Given the description of an element on the screen output the (x, y) to click on. 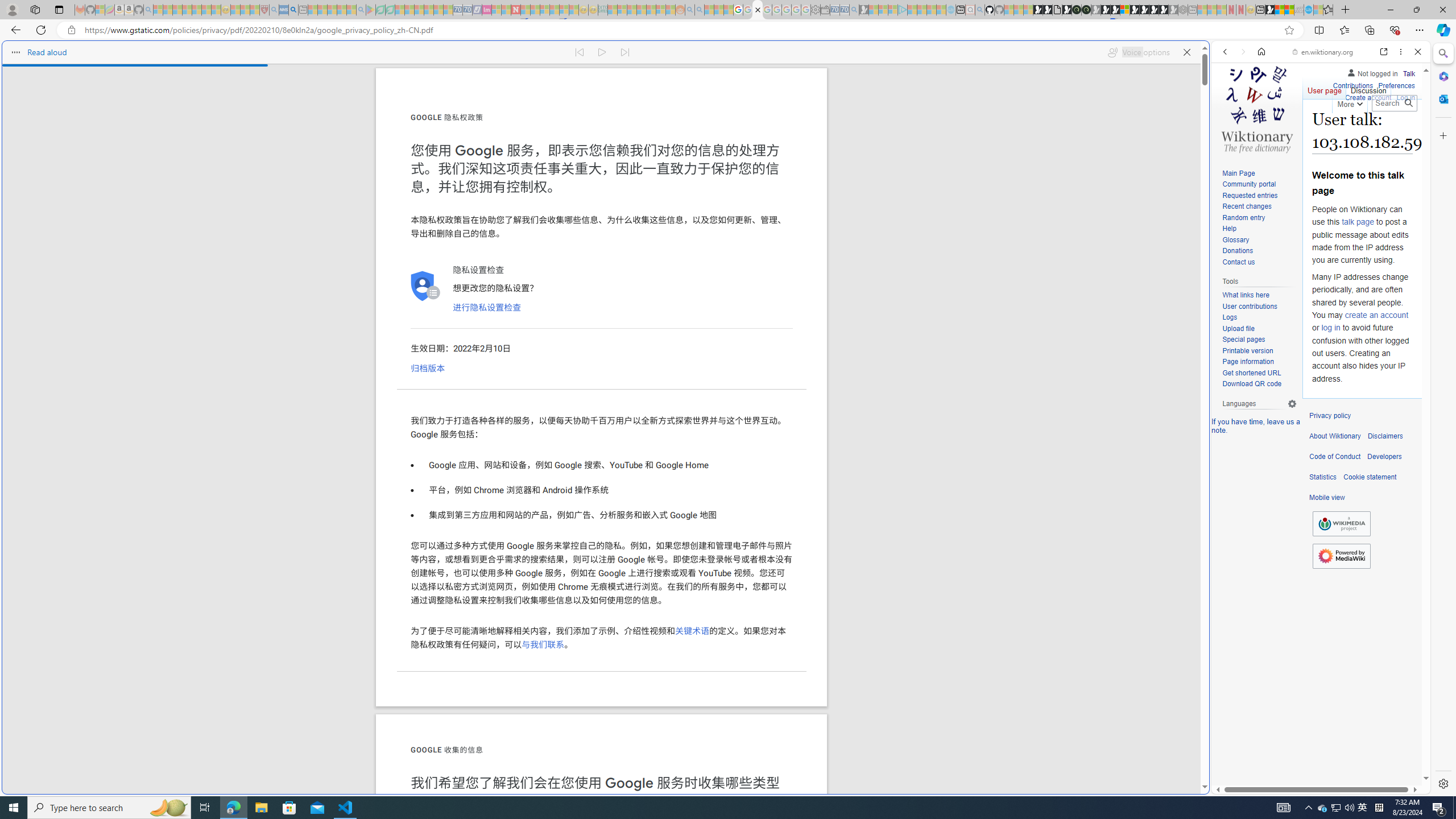
Mobile view (1326, 497)
Wiktionary (1315, 380)
What links here (1245, 295)
Read next paragraph (624, 52)
User contributions (1248, 306)
World - MSN (727, 389)
Kinda Frugal - MSN - Sleeping (651, 9)
Contributions (1352, 84)
Special pages (1243, 339)
Main Page (1238, 172)
